Given the description of an element on the screen output the (x, y) to click on. 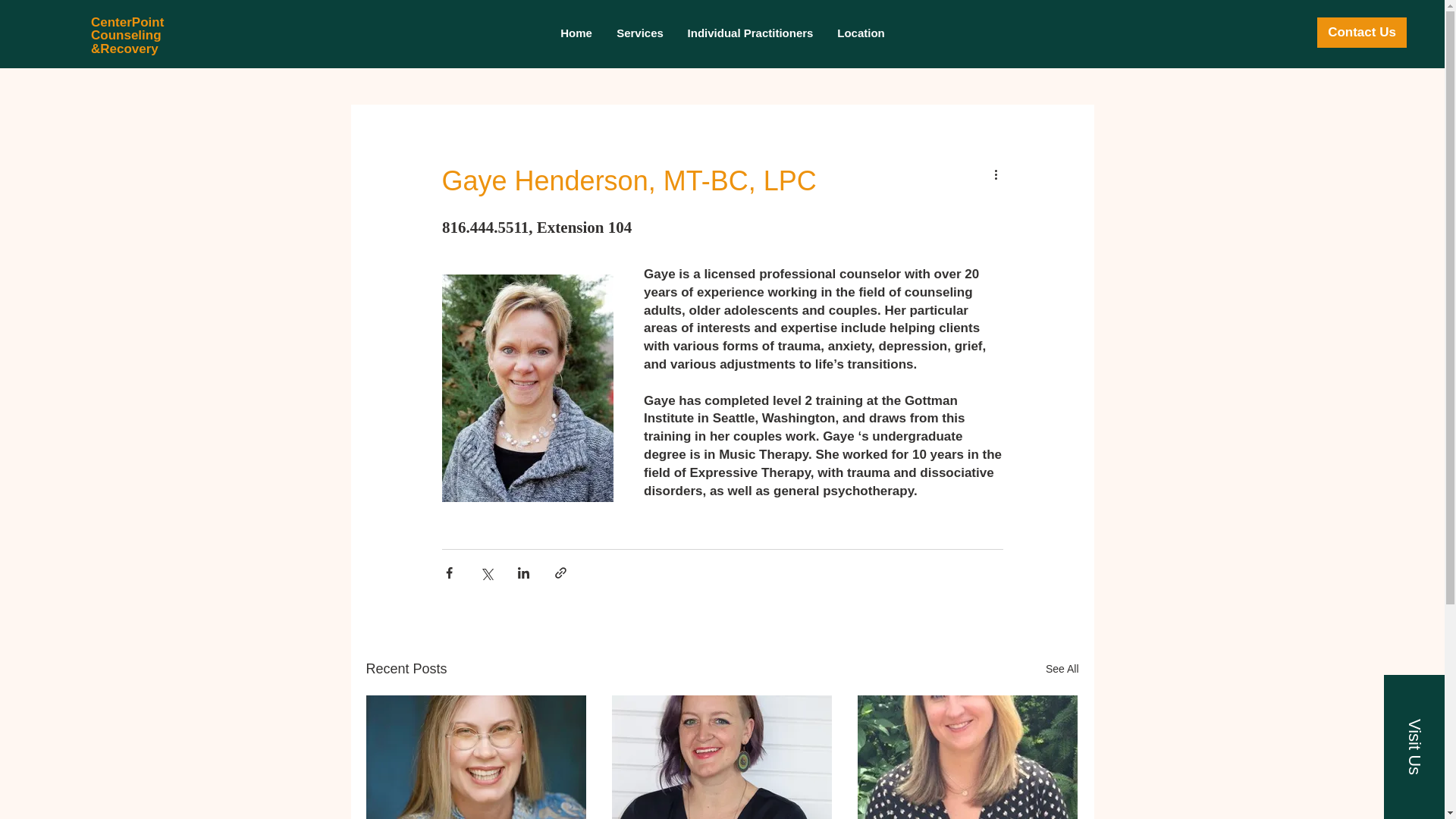
Home (575, 33)
Individual Practitioners (750, 33)
Contact Us (1361, 32)
See All (1061, 669)
Services (640, 33)
Location (860, 33)
